Given the description of an element on the screen output the (x, y) to click on. 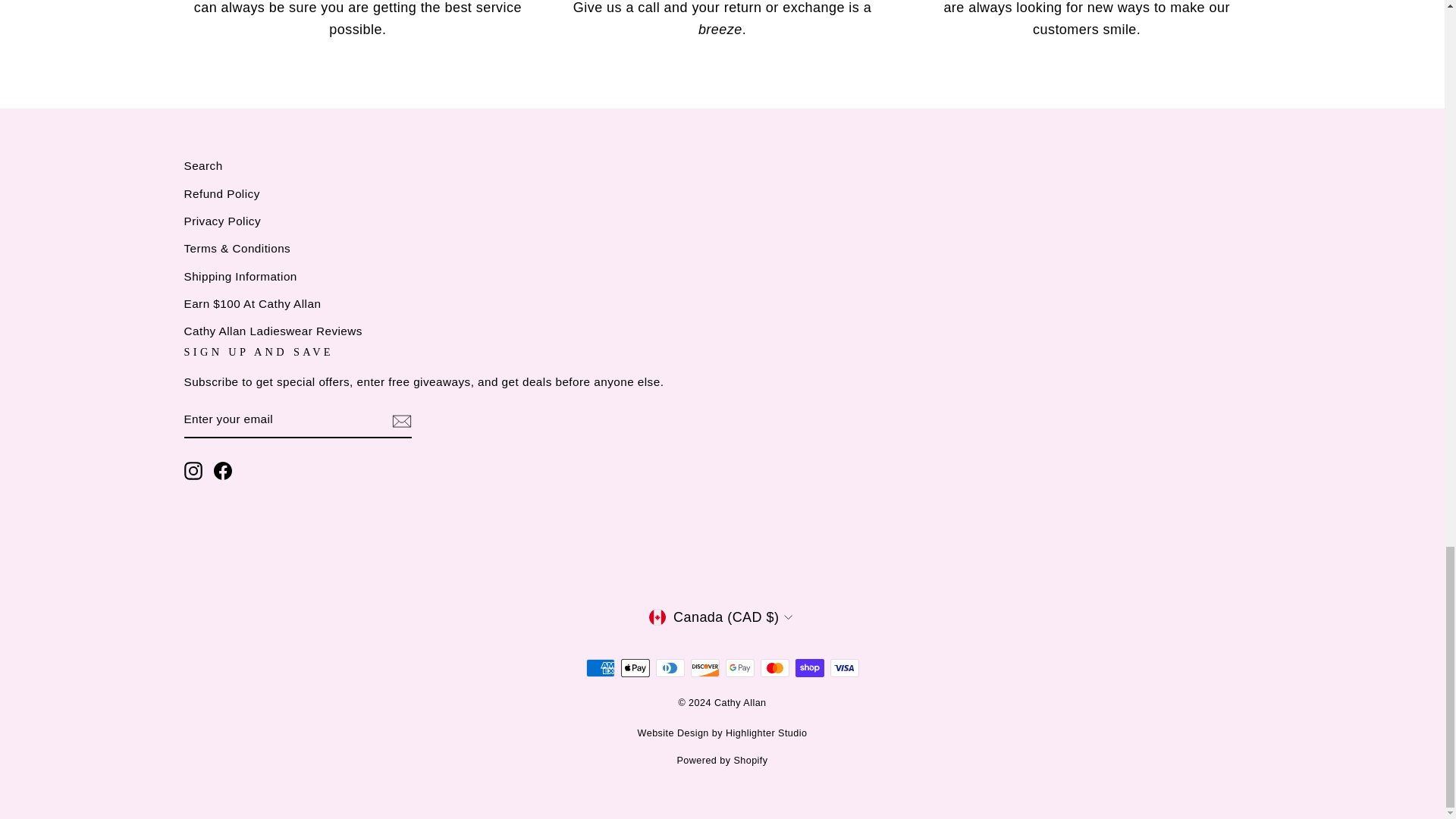
American Express (599, 668)
Cathy Allan on Instagram (192, 470)
Apple Pay (634, 668)
Discover (704, 668)
Google Pay (739, 668)
Diners Club (669, 668)
Shop Pay (809, 668)
Cathy Allan on Facebook (222, 470)
icon-email (400, 420)
Mastercard (774, 668)
